Given the description of an element on the screen output the (x, y) to click on. 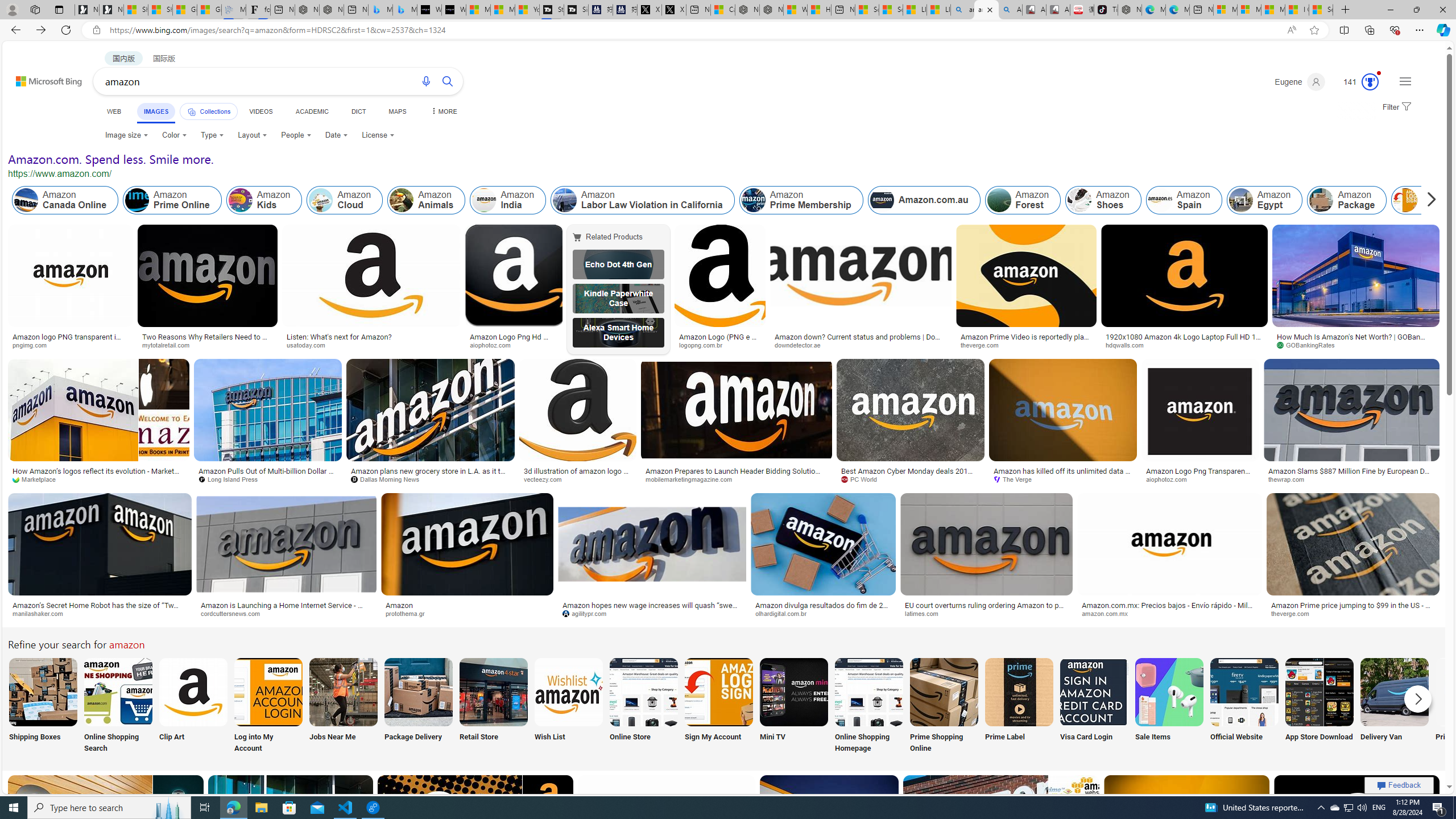
Filter (1395, 107)
MAPS (397, 111)
pngimg.com (34, 344)
Long Island Press (232, 479)
Listen: What's next for Amazon? (338, 336)
Forward (40, 29)
Amazon down? Current status and problems | Downdetector (861, 340)
Jobs Near Me (342, 706)
DICT (357, 111)
Amazon Prime Label (1018, 691)
Amazon Log into My Account (268, 691)
